Given the description of an element on the screen output the (x, y) to click on. 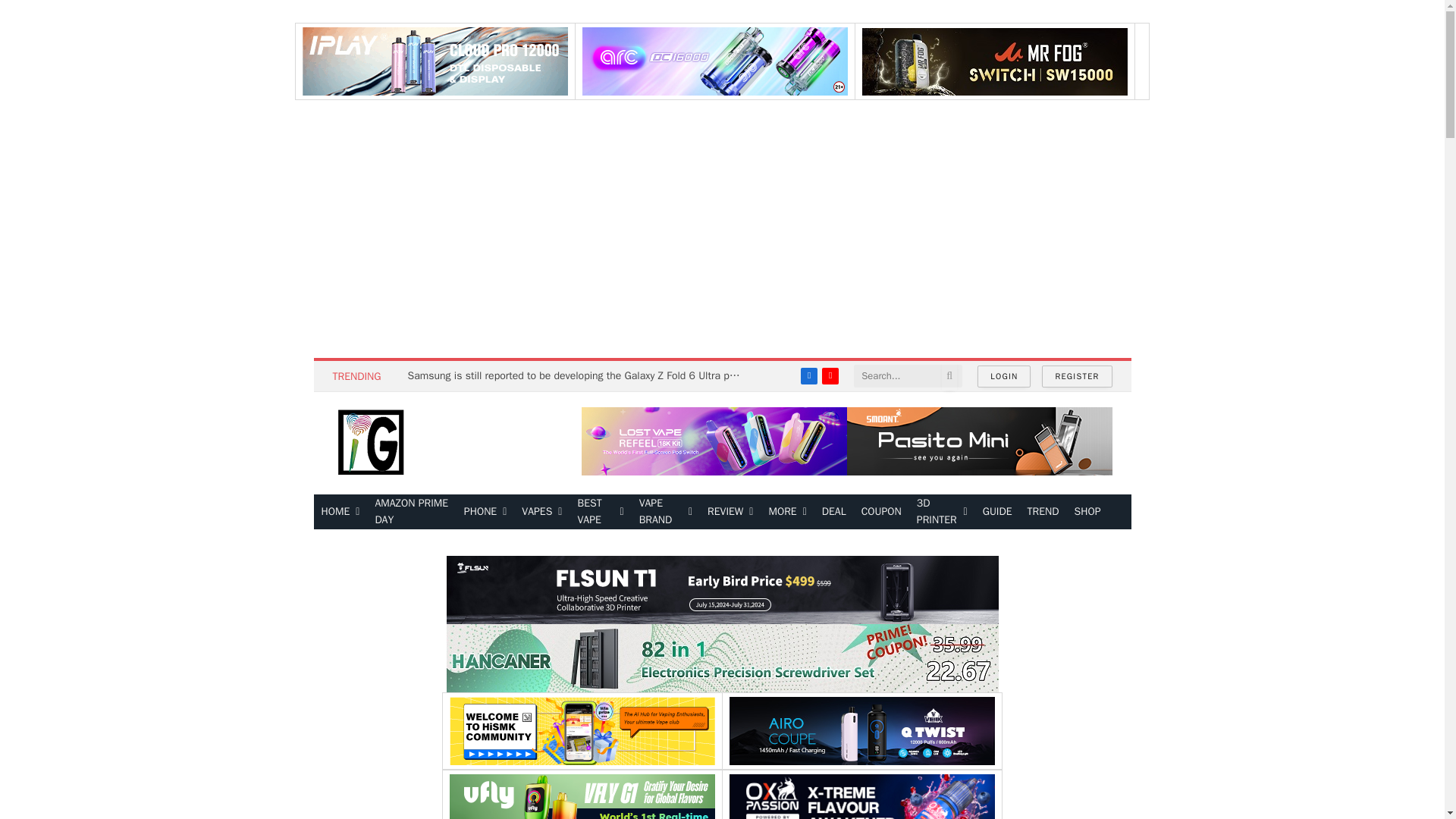
PHONE (485, 511)
LOGIN (1003, 376)
YouTube (830, 375)
REGISTER (1077, 376)
HOME (341, 511)
AMAZON PRIME DAY (410, 511)
Facebook (808, 375)
